Given the description of an element on the screen output the (x, y) to click on. 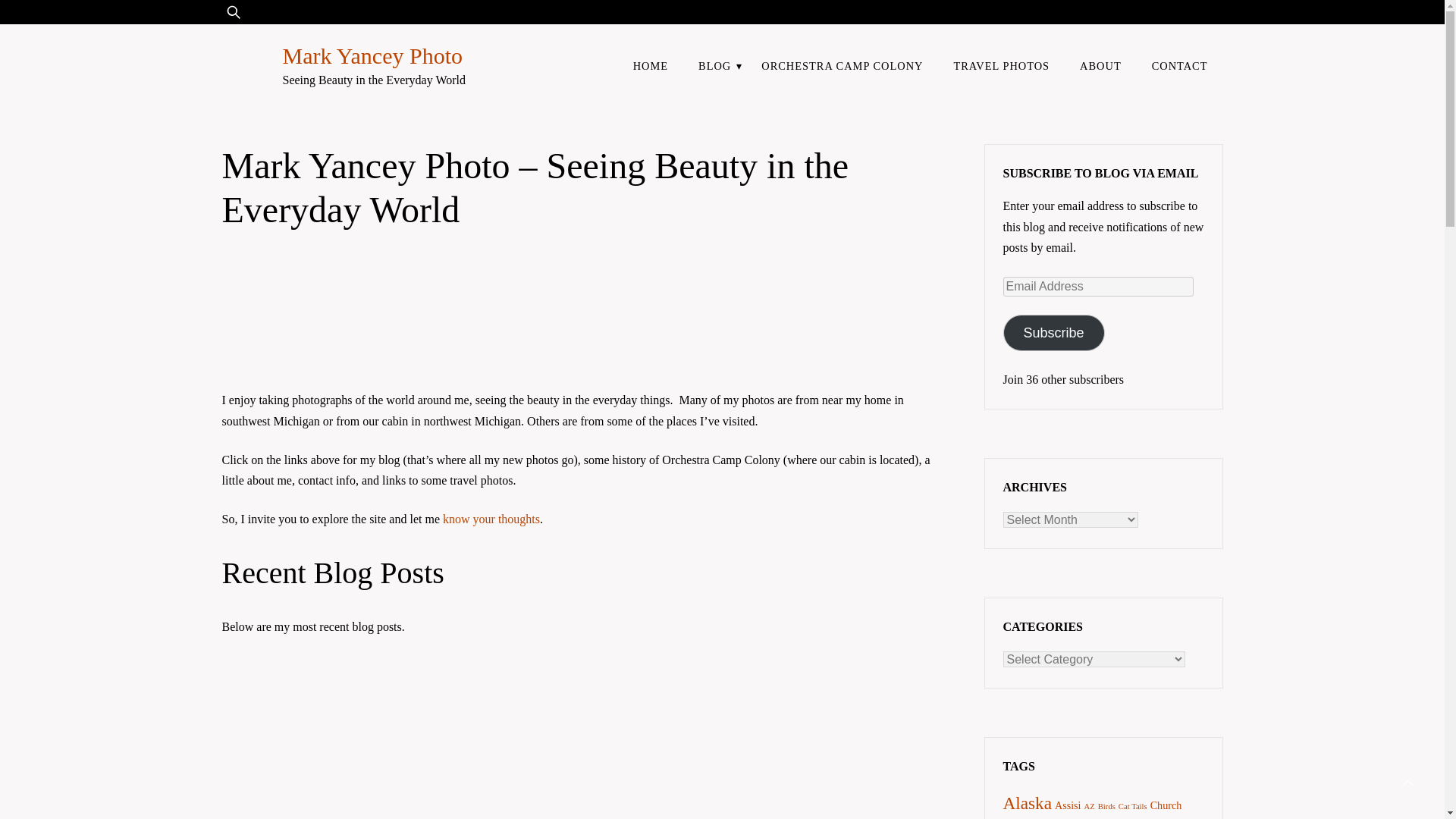
CONTACT (1180, 65)
AZ (1089, 806)
ABOUT (1100, 65)
Mark Yancey Photo (372, 55)
HOME (649, 65)
Cat Tails (1132, 806)
Alaska (1027, 803)
know your thoughts (491, 518)
Assisi (1067, 805)
know your thoughts (491, 518)
